Given the description of an element on the screen output the (x, y) to click on. 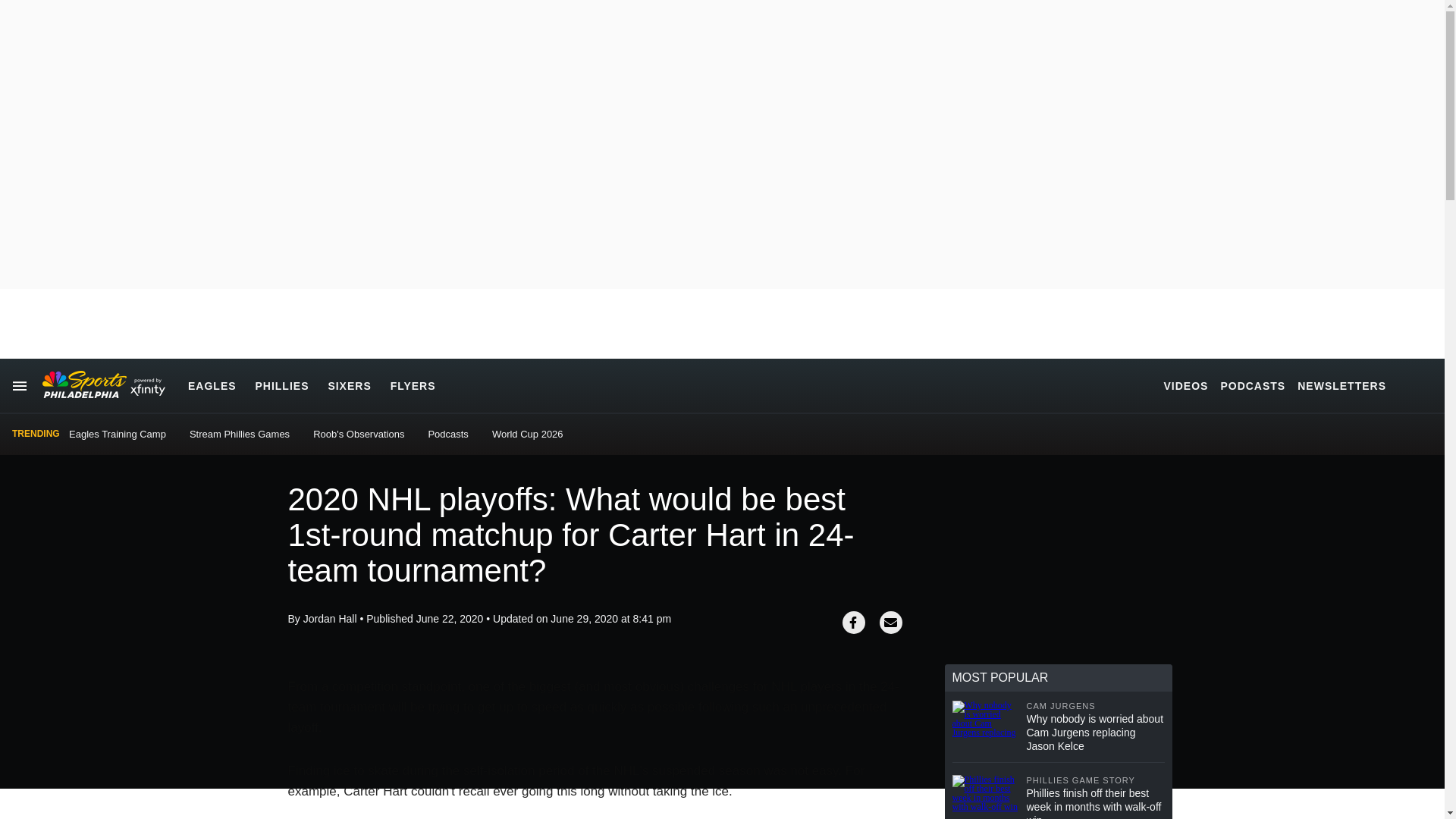
VIDEOS (1185, 385)
EAGLES (211, 385)
Jordan Hall (329, 618)
Podcasts (447, 433)
PODCASTS (1252, 385)
Eagles Training Camp (116, 433)
PHILLIES (281, 385)
Stream Phillies Games (239, 433)
NEWSLETTERS (1341, 385)
FLYERS (412, 385)
